Given the description of an element on the screen output the (x, y) to click on. 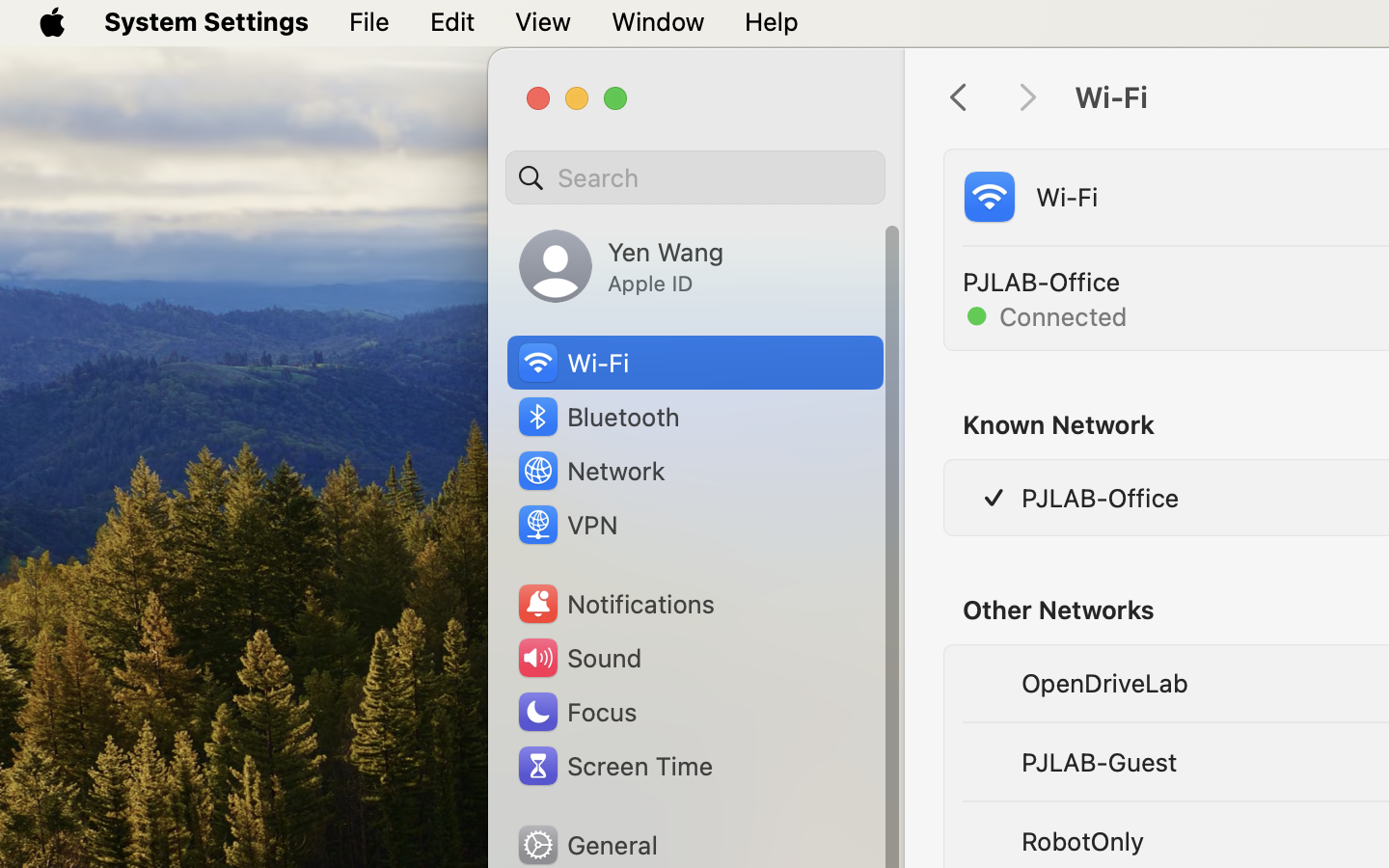
Focus Element type: AXStaticText (575, 711)
